Given the description of an element on the screen output the (x, y) to click on. 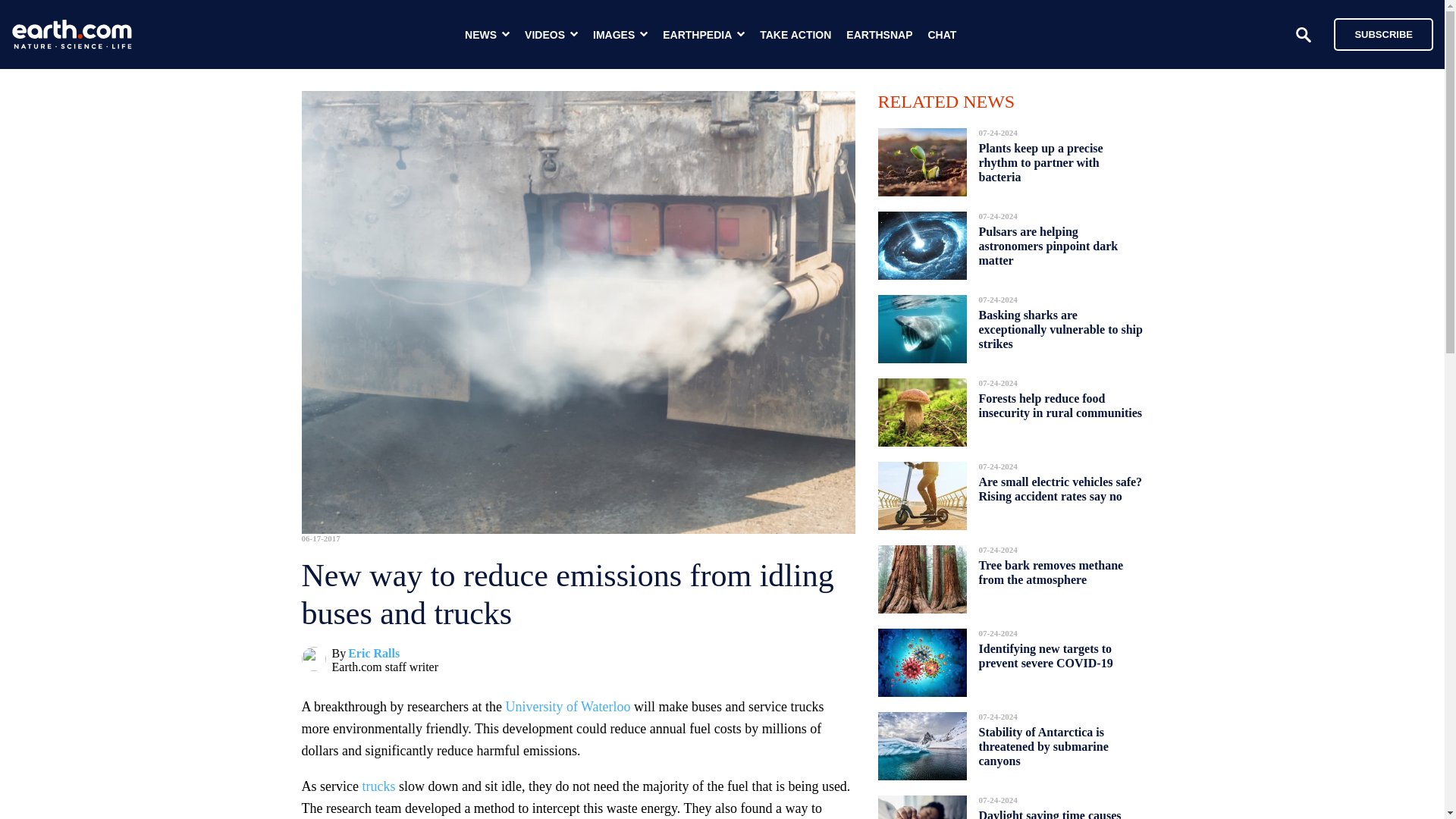
Pulsars are helping astronomers pinpoint dark matter (1048, 245)
SUBSCRIBE (1375, 33)
SUBSCRIBE (1382, 34)
Basking sharks are exceptionally vulnerable to ship strikes (1059, 329)
Plants keep up a precise rhythm to partner with bacteria (1040, 162)
Eric Ralls (372, 653)
EARTHSNAP (878, 34)
Identifying new targets to prevent severe COVID-19  (1046, 655)
Stability of Antarctica is threatened by submarine canyons (1043, 746)
University of Waterloo (567, 706)
Daylight saving time causes unhealthy lifestyle choices (1049, 810)
TAKE ACTION (795, 34)
Forests help reduce food insecurity in rural communities (1059, 405)
Tree bark removes methane from the atmosphere (1050, 572)
